Given the description of an element on the screen output the (x, y) to click on. 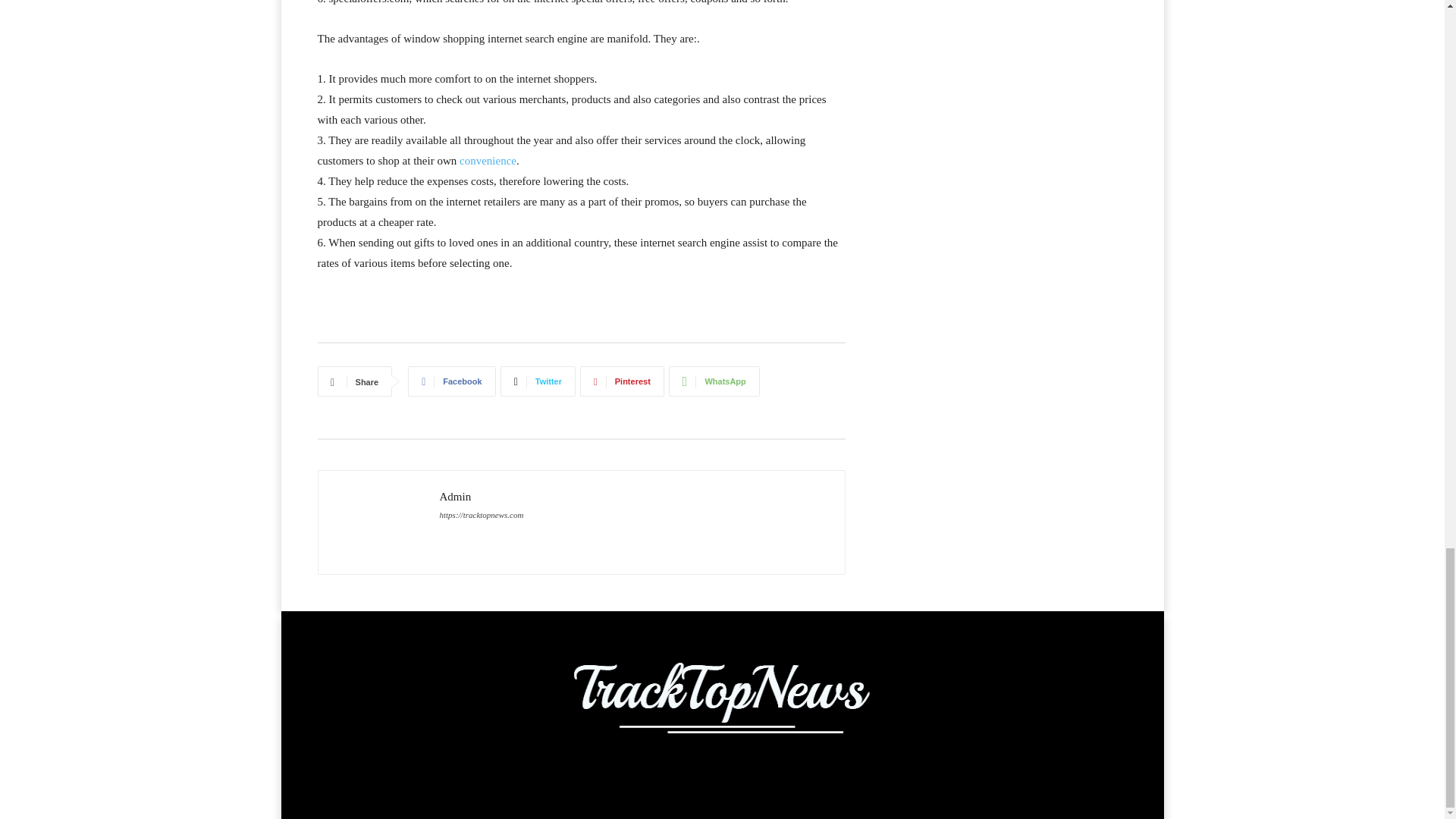
Facebook (451, 381)
